Given the description of an element on the screen output the (x, y) to click on. 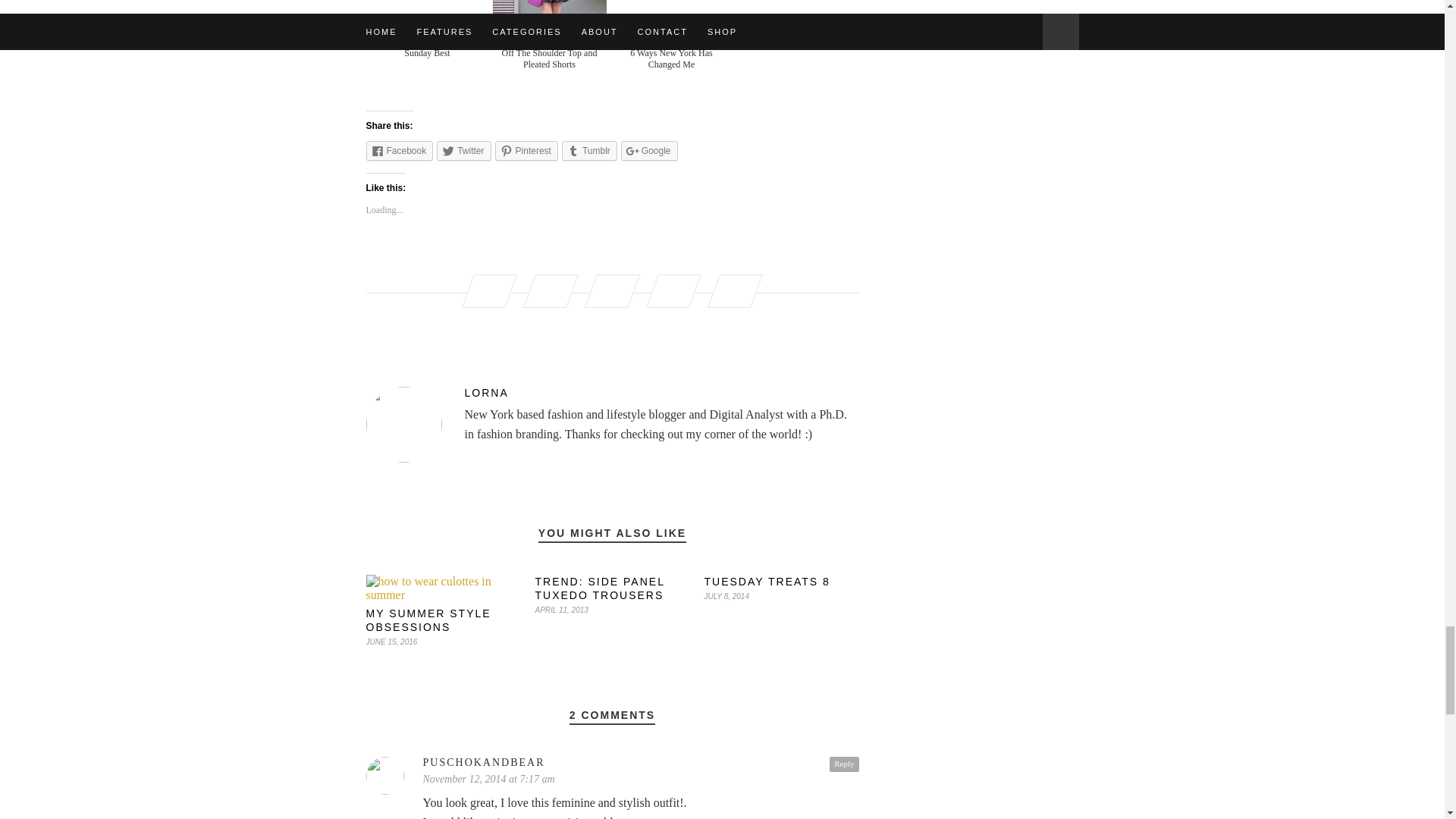
Click to share on Tumblr (589, 150)
Posts by Lorna (612, 392)
Click to share on Facebook (398, 150)
Click to share on Pinterest (526, 150)
Click to share on Twitter (463, 150)
